Given the description of an element on the screen output the (x, y) to click on. 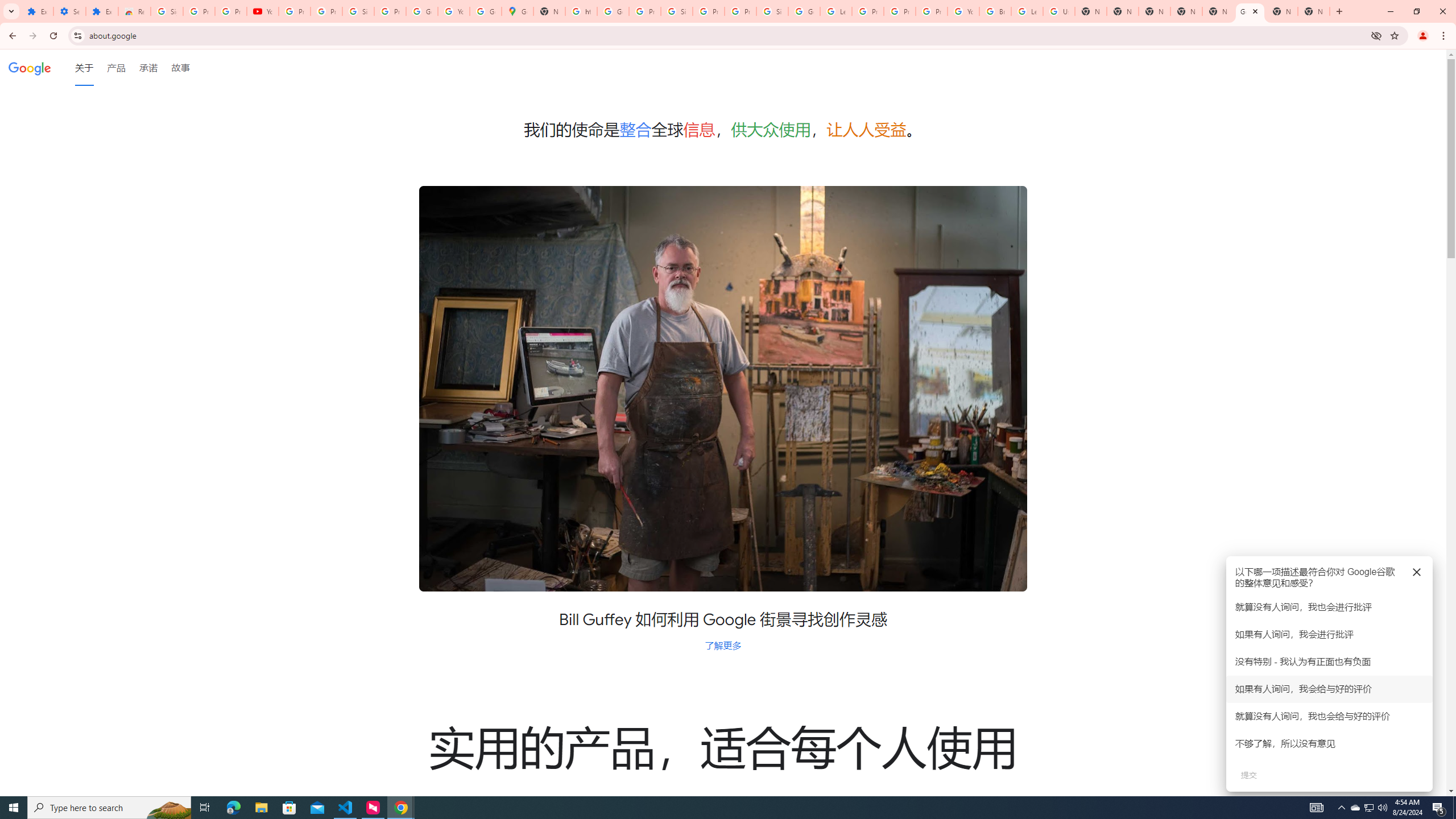
Privacy Help Center - Policies Help (868, 11)
Sign in - Google Accounts (676, 11)
